Given the description of an element on the screen output the (x, y) to click on. 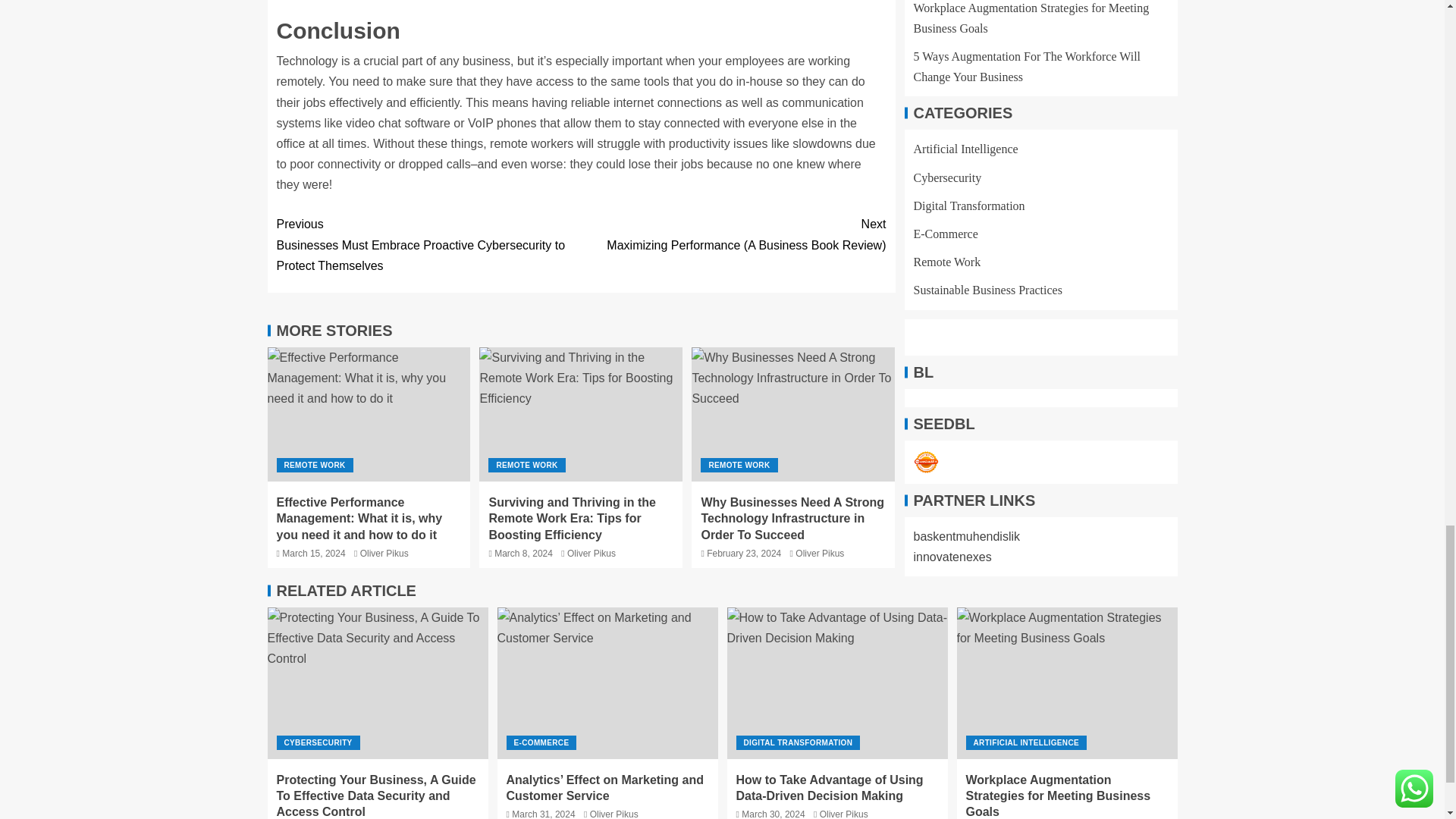
REMOTE WORK (314, 464)
Oliver Pikus (384, 552)
